Given the description of an element on the screen output the (x, y) to click on. 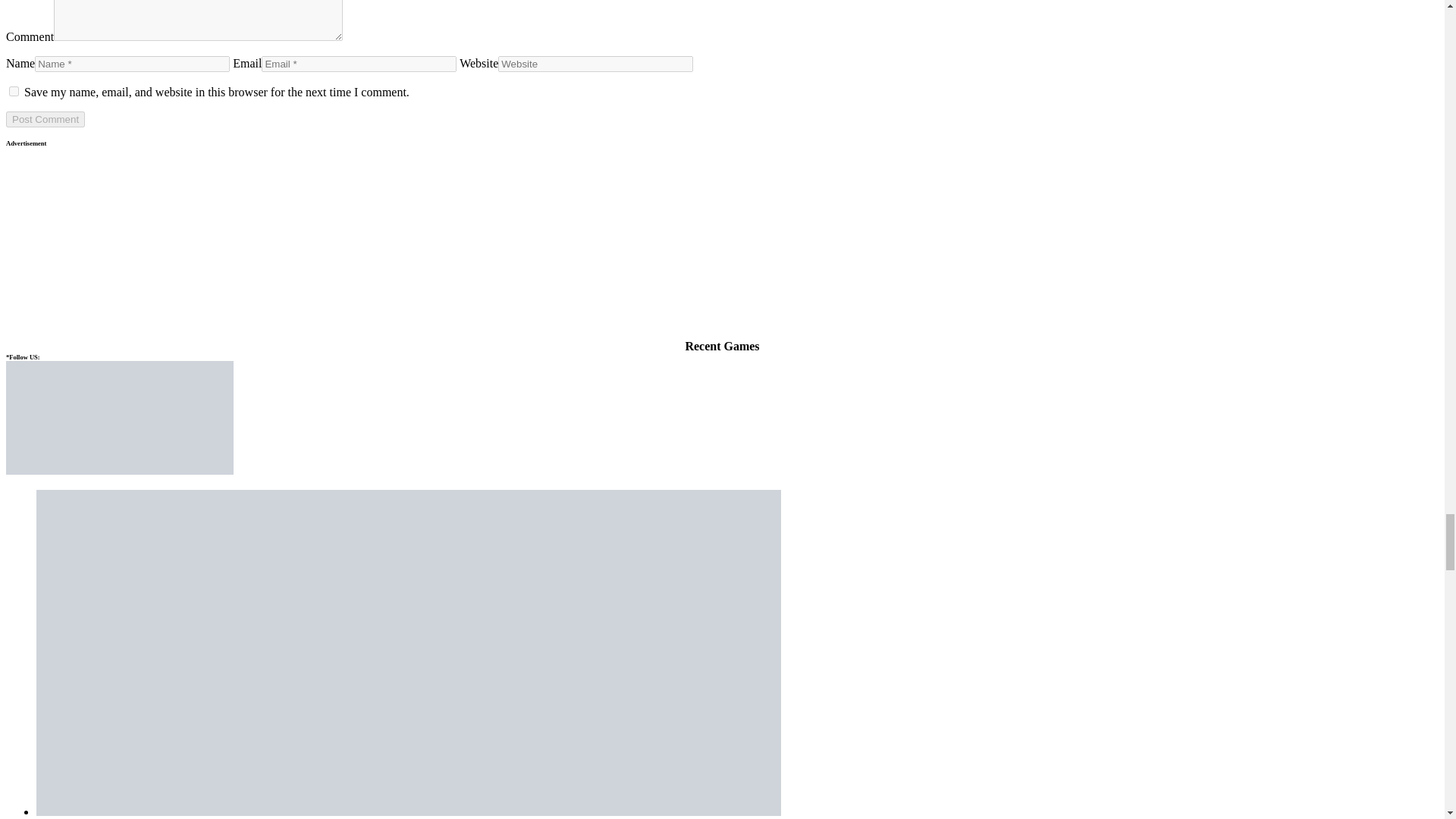
yes (13, 91)
Post Comment (44, 119)
